Given the description of an element on the screen output the (x, y) to click on. 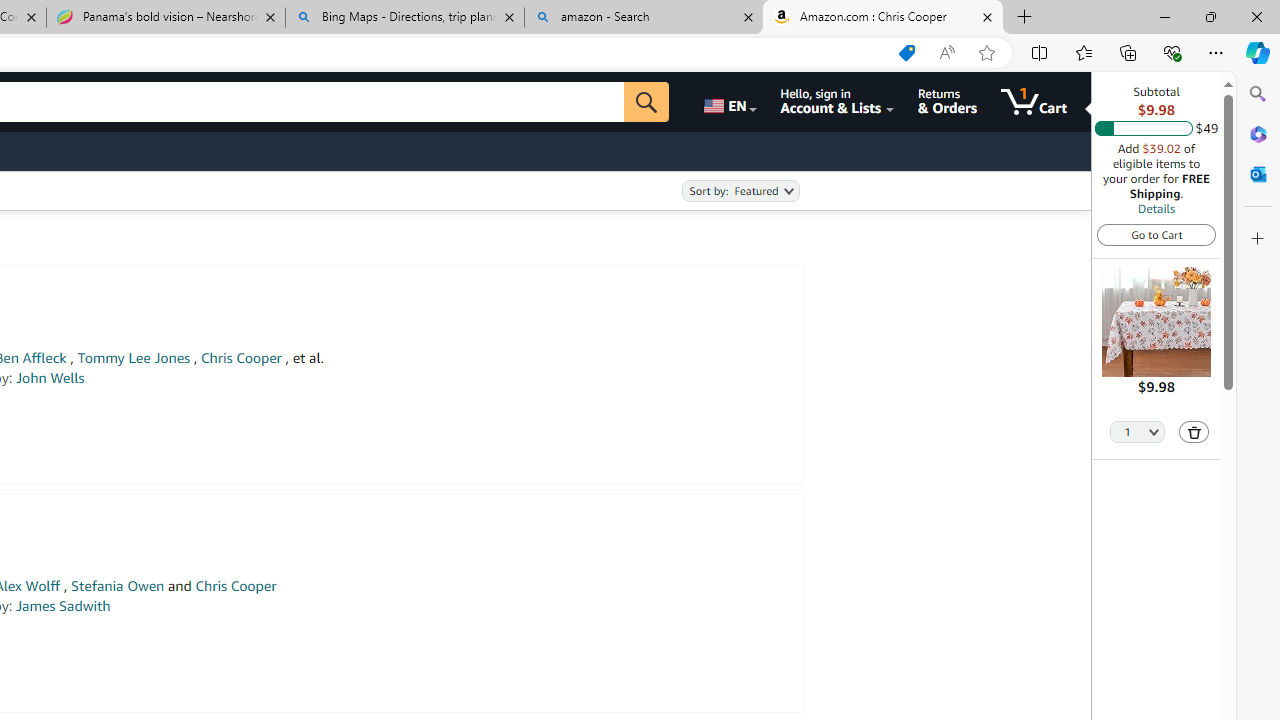
Quantity Selector (1137, 430)
Choose a language for shopping. (728, 101)
James Sadwith (63, 606)
Returns & Orders (946, 101)
Delete (1194, 431)
John Wells (49, 378)
1 item in cart (1034, 101)
Stefania Owen (117, 586)
Hello, sign in Account & Lists (836, 101)
